Given the description of an element on the screen output the (x, y) to click on. 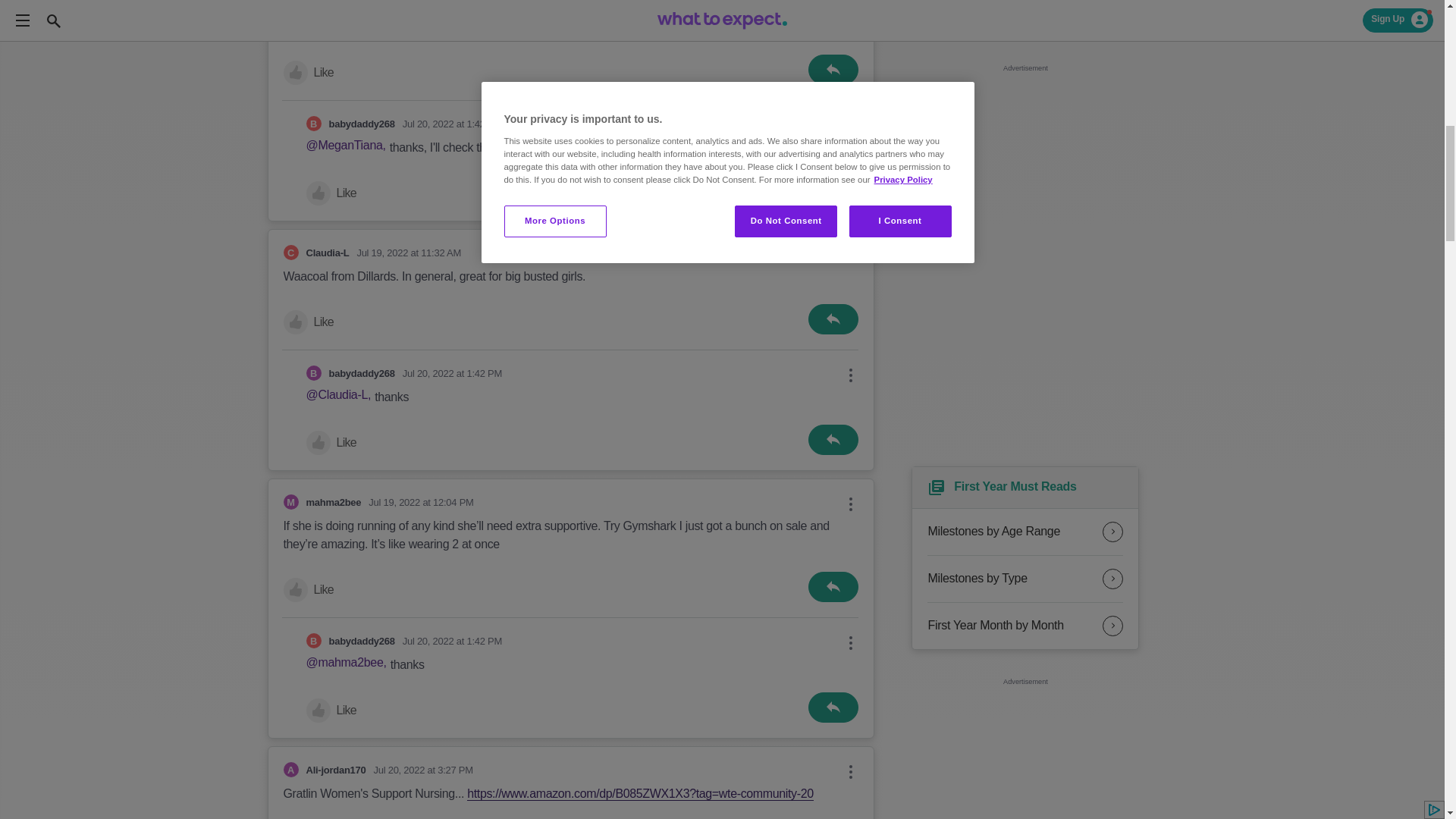
First Year Month by Month (1024, 625)
Milestones by Age Range (1024, 532)
Milestones by Type (1024, 579)
